Given the description of an element on the screen output the (x, y) to click on. 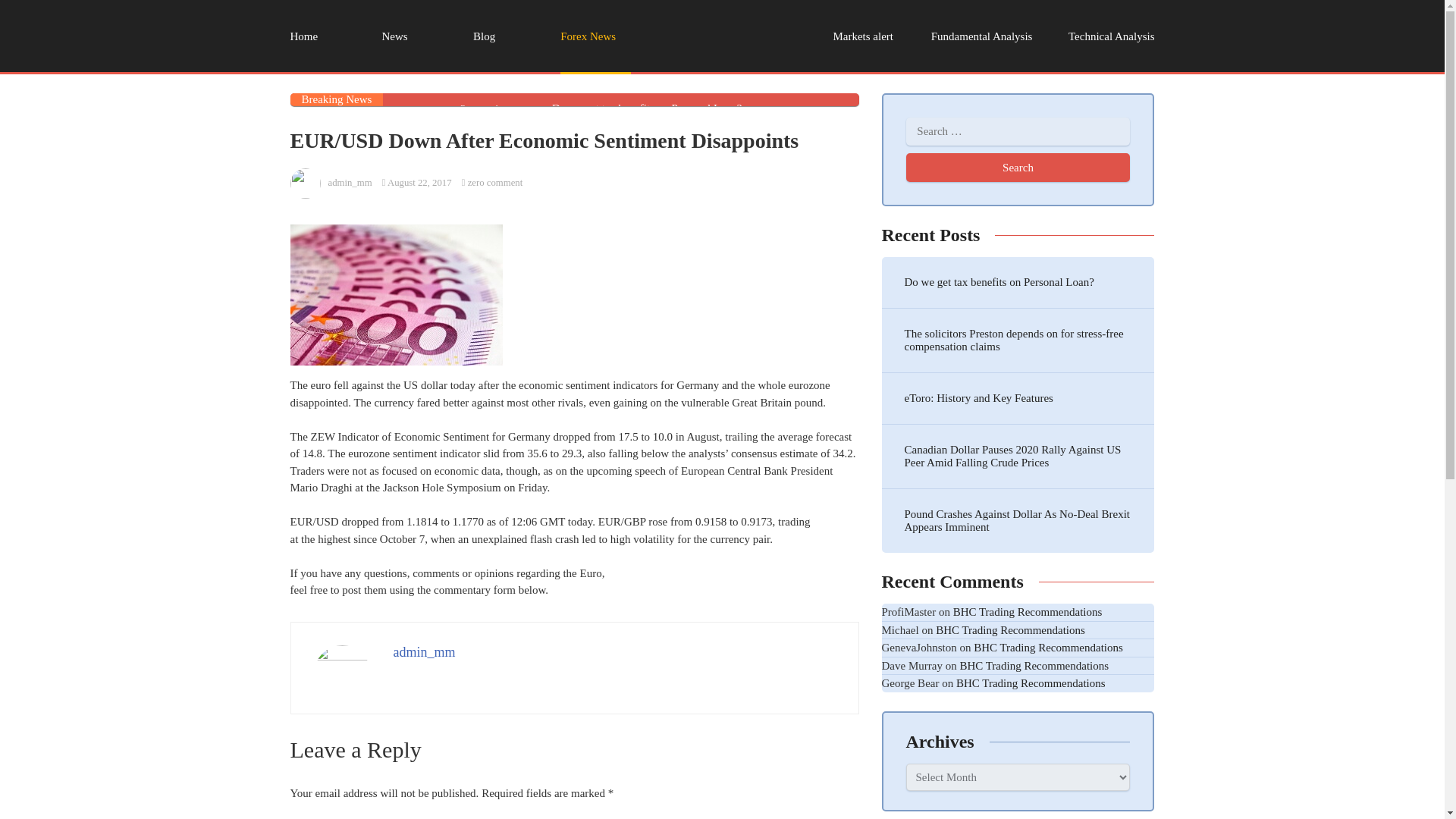
BHC Trading Recommendations (1048, 647)
BHC Trading Recommendations (1010, 629)
BHC Trading Recommendations (1033, 665)
Technical Analysis (1108, 37)
eToro: History and Key Features (1017, 398)
Search (1017, 167)
Forex News (595, 37)
Do we get tax benefits on Personal Loan? (1017, 282)
Fundamental Analysis (977, 37)
BHC Trading Recommendations (1030, 683)
December 21, 2020 Do we get tax benefits on Personal Loan? (669, 109)
August 22, 2017 (419, 182)
BHC Trading Recommendations (1027, 612)
zero comment (494, 182)
Search (1017, 167)
